Given the description of an element on the screen output the (x, y) to click on. 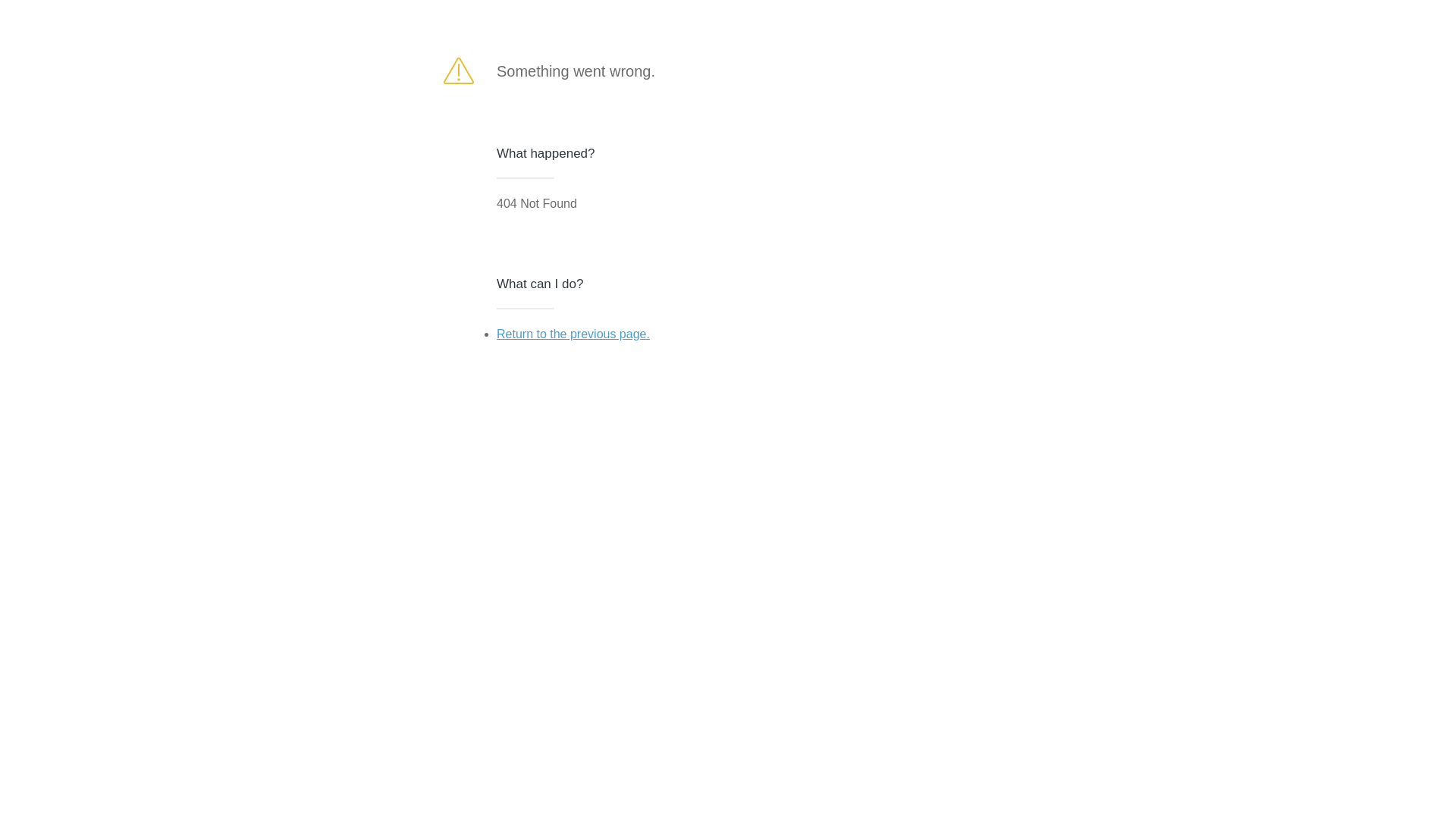
Return to the previous page. Element type: text (572, 333)
